Given the description of an element on the screen output the (x, y) to click on. 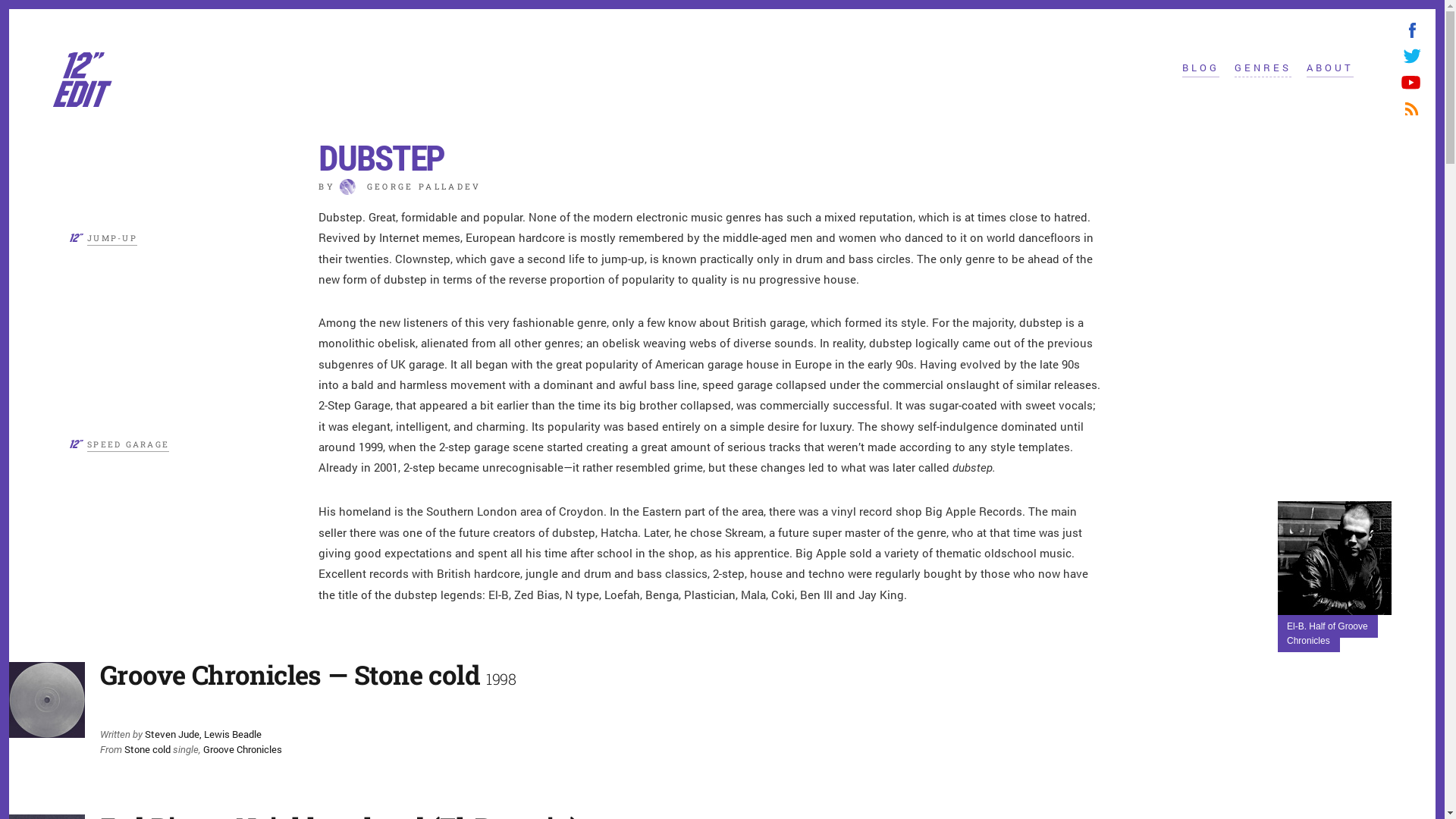
JUMP-UP Element type: text (112, 238)
BLOG Element type: text (1200, 68)
GENRES Element type: text (1262, 68)
play Element type: hover (119, 707)
SPEED GARAGE Element type: text (128, 445)
ABOUT Element type: text (1329, 68)
